Given the description of an element on the screen output the (x, y) to click on. 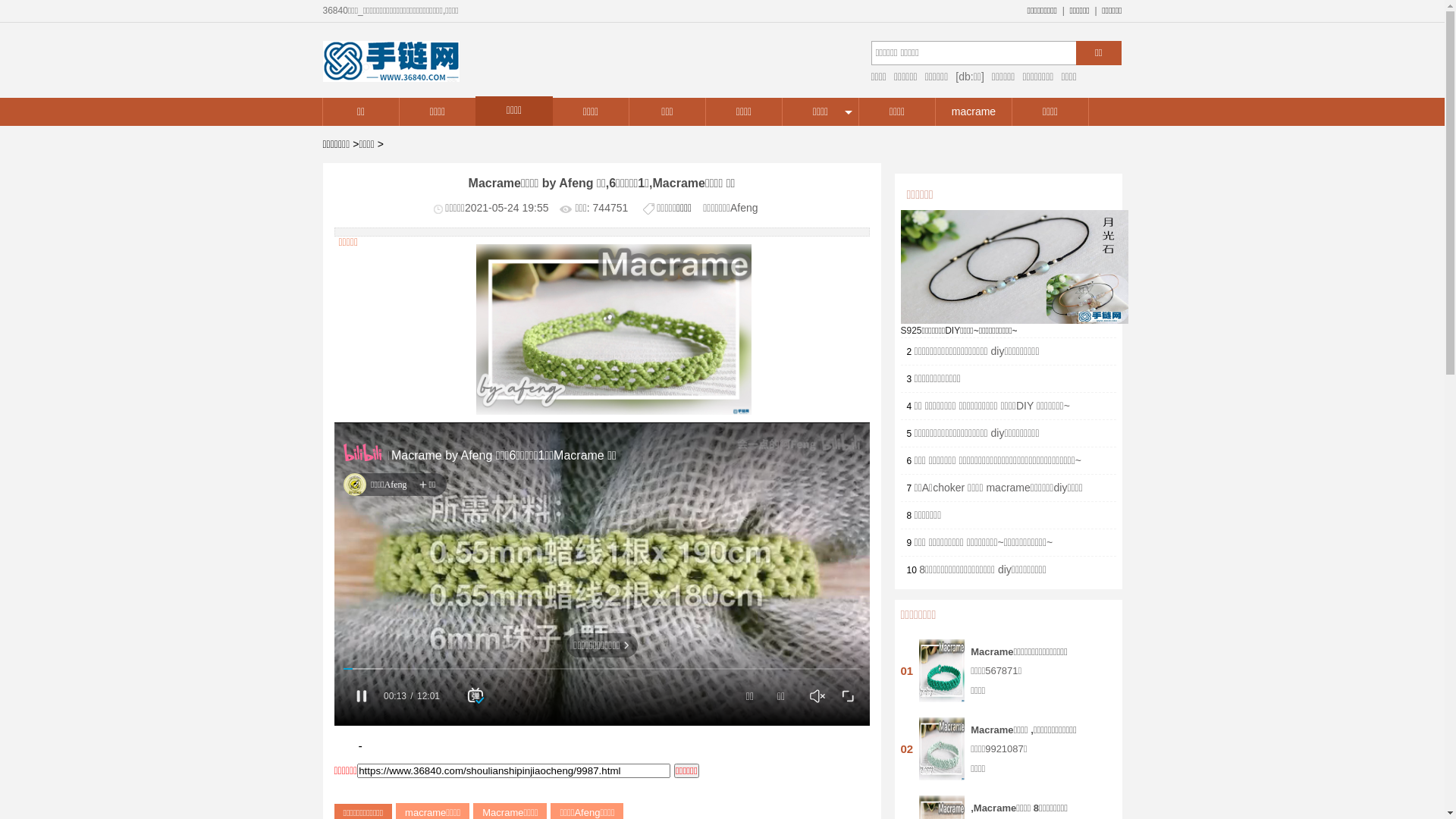
macrame Element type: text (973, 111)
